Given the description of an element on the screen output the (x, y) to click on. 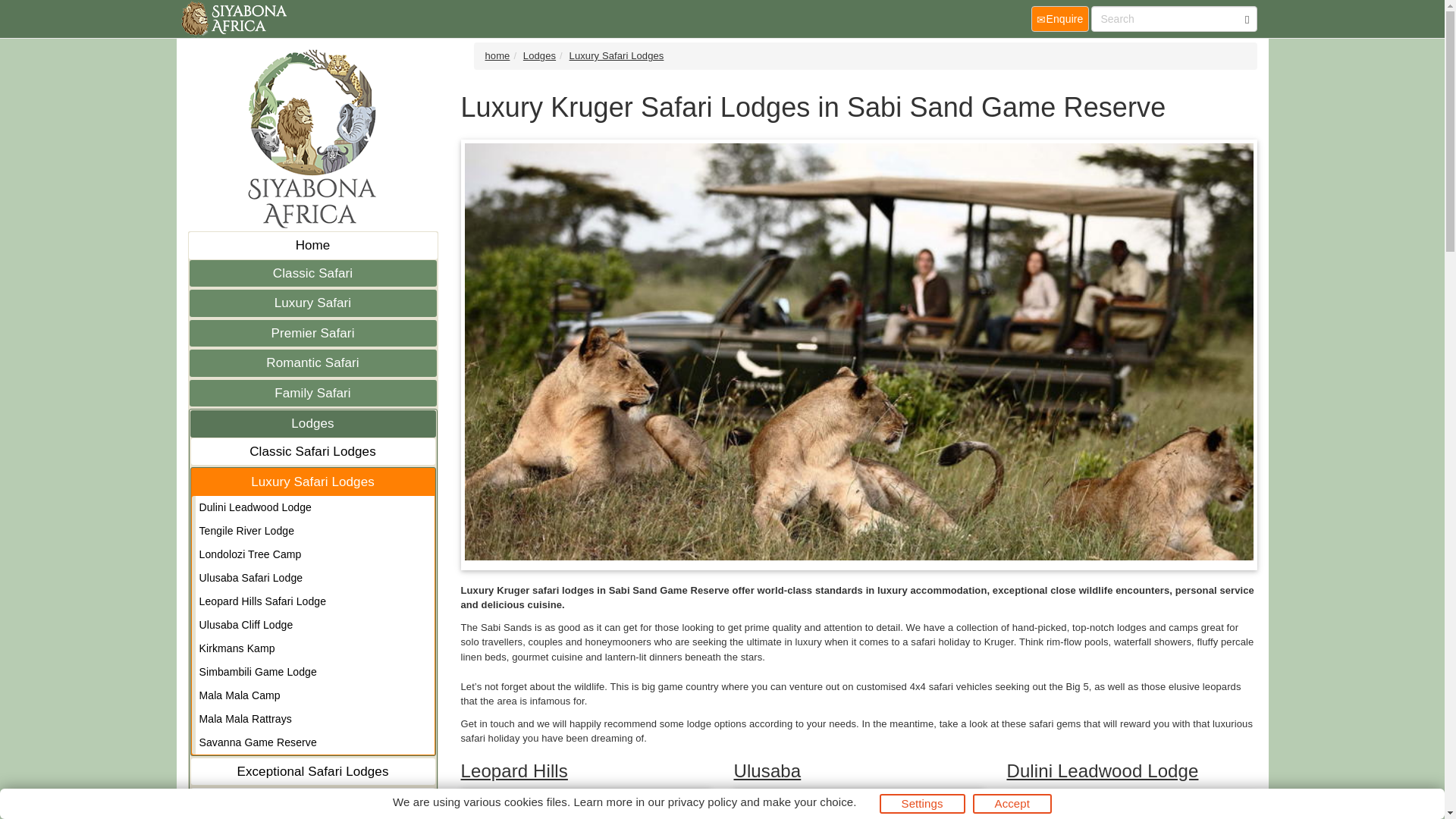
Leopard Hills Safari Lodge (314, 601)
Luxury Safari (312, 302)
Romantic Safari (312, 362)
Premier Safari (312, 333)
Lodges (312, 423)
Ulusaba (766, 770)
Dulini Leadwood Lodge (314, 507)
Home (311, 245)
Londolozi Tree Camp (314, 554)
